Given the description of an element on the screen output the (x, y) to click on. 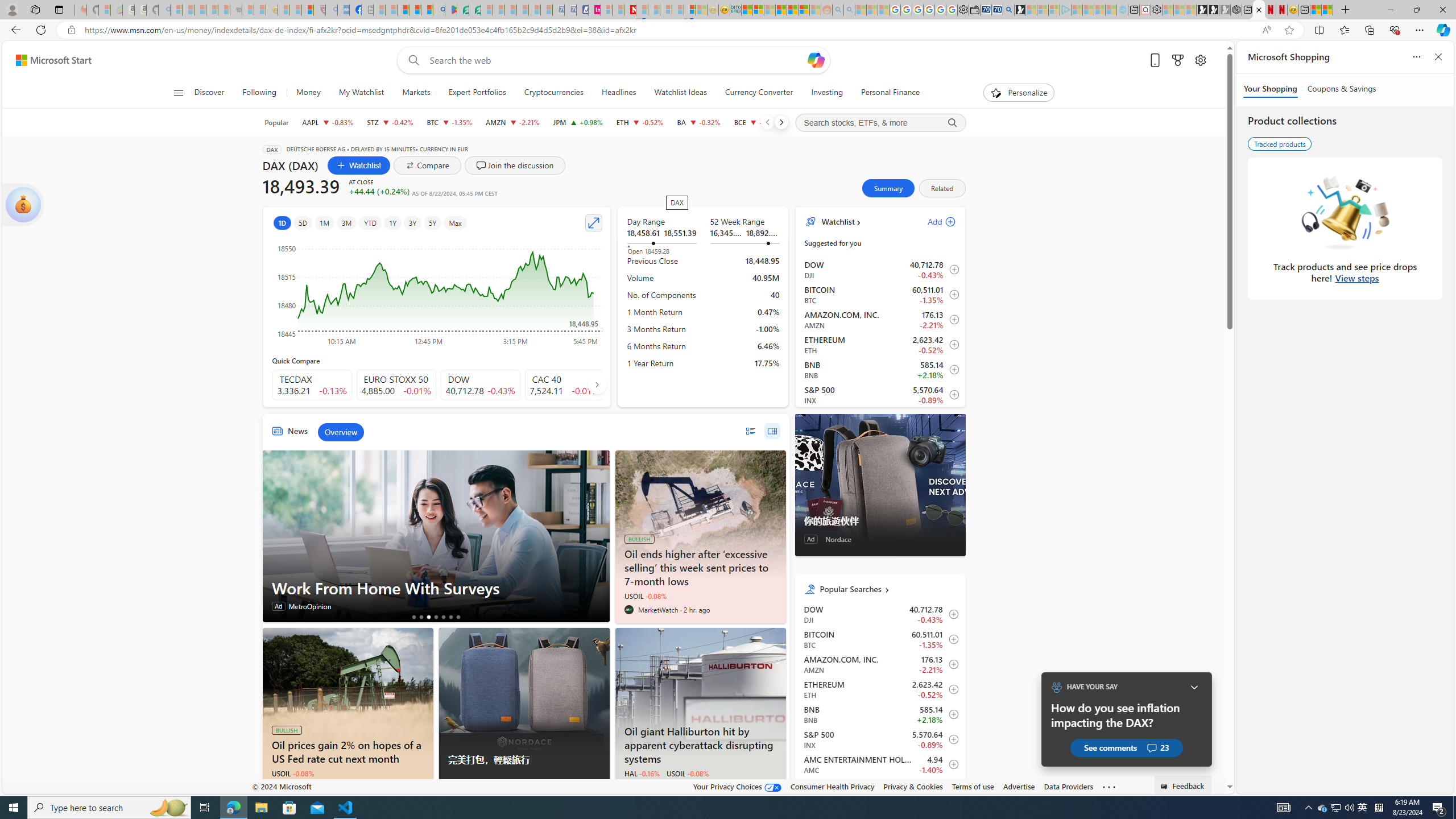
My Watchlist (360, 92)
Local - MSN (307, 9)
AMZN AMAZON.COM, INC. decrease 176.13 -3.98 -2.21% (512, 122)
Latest Politics News & Archive | Newsweek.com (629, 9)
Terms of Use Agreement (462, 9)
Watchlist (358, 165)
CNN (628, 786)
